Given the description of an element on the screen output the (x, y) to click on. 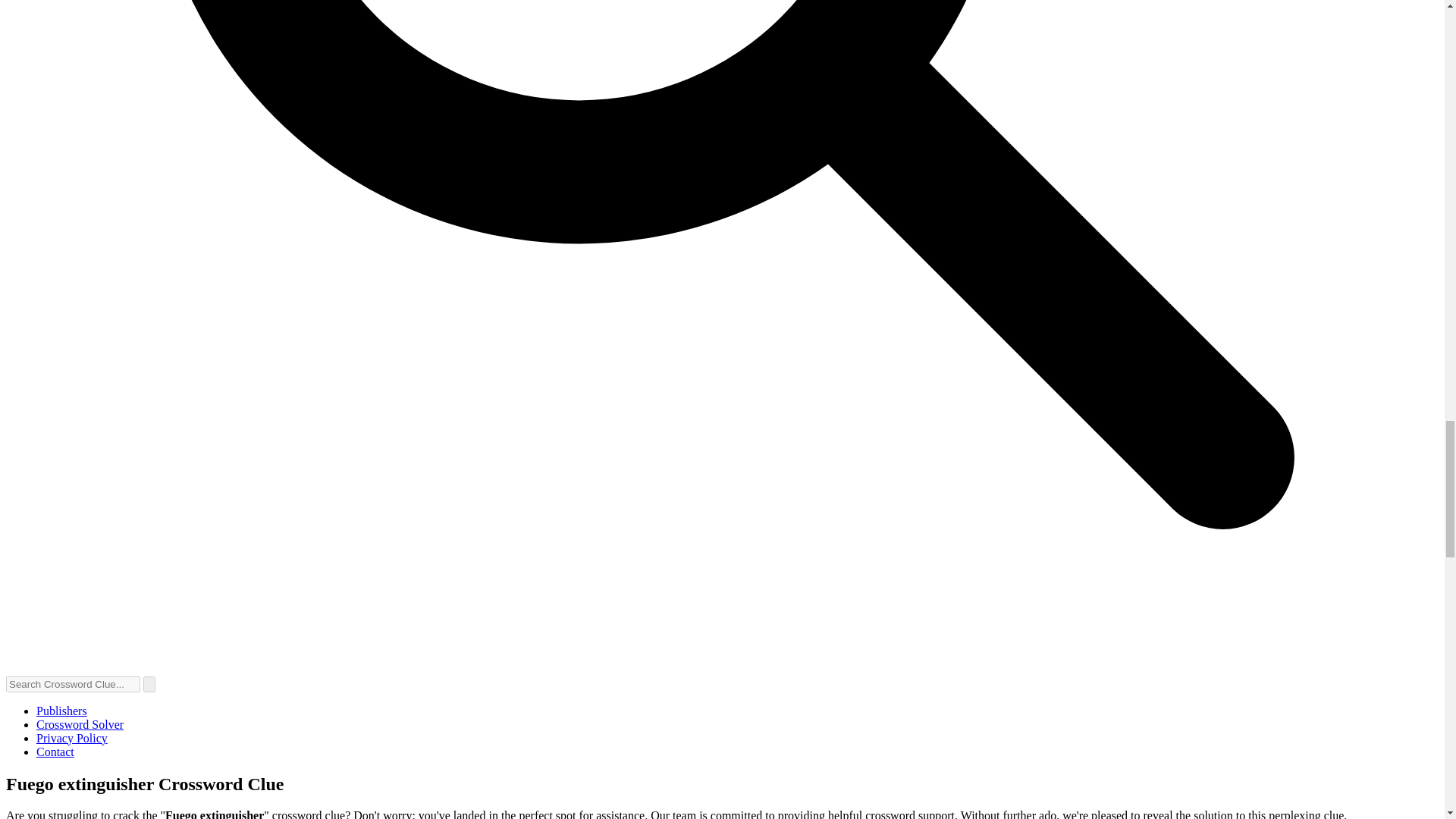
Privacy Policy (71, 738)
Contact (55, 751)
Publishers (61, 710)
Crossword Solver (79, 724)
